Given the description of an element on the screen output the (x, y) to click on. 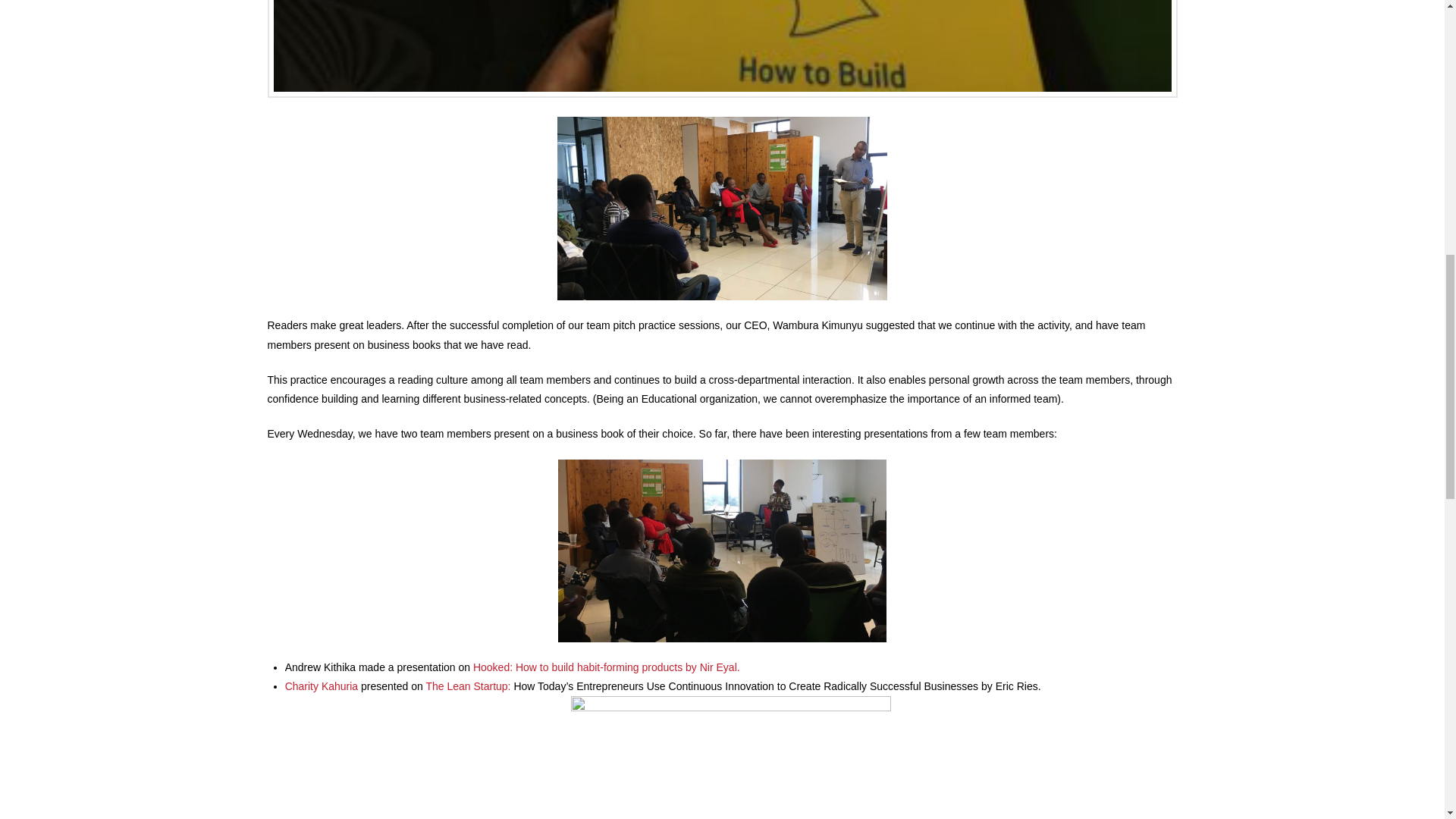
Find all the author's book (718, 666)
Hooked: How to build habit-forming products by  (586, 666)
Nir Eyal (718, 666)
Charity Kahuria (321, 686)
The Lean Startup:  (469, 686)
